Given the description of an element on the screen output the (x, y) to click on. 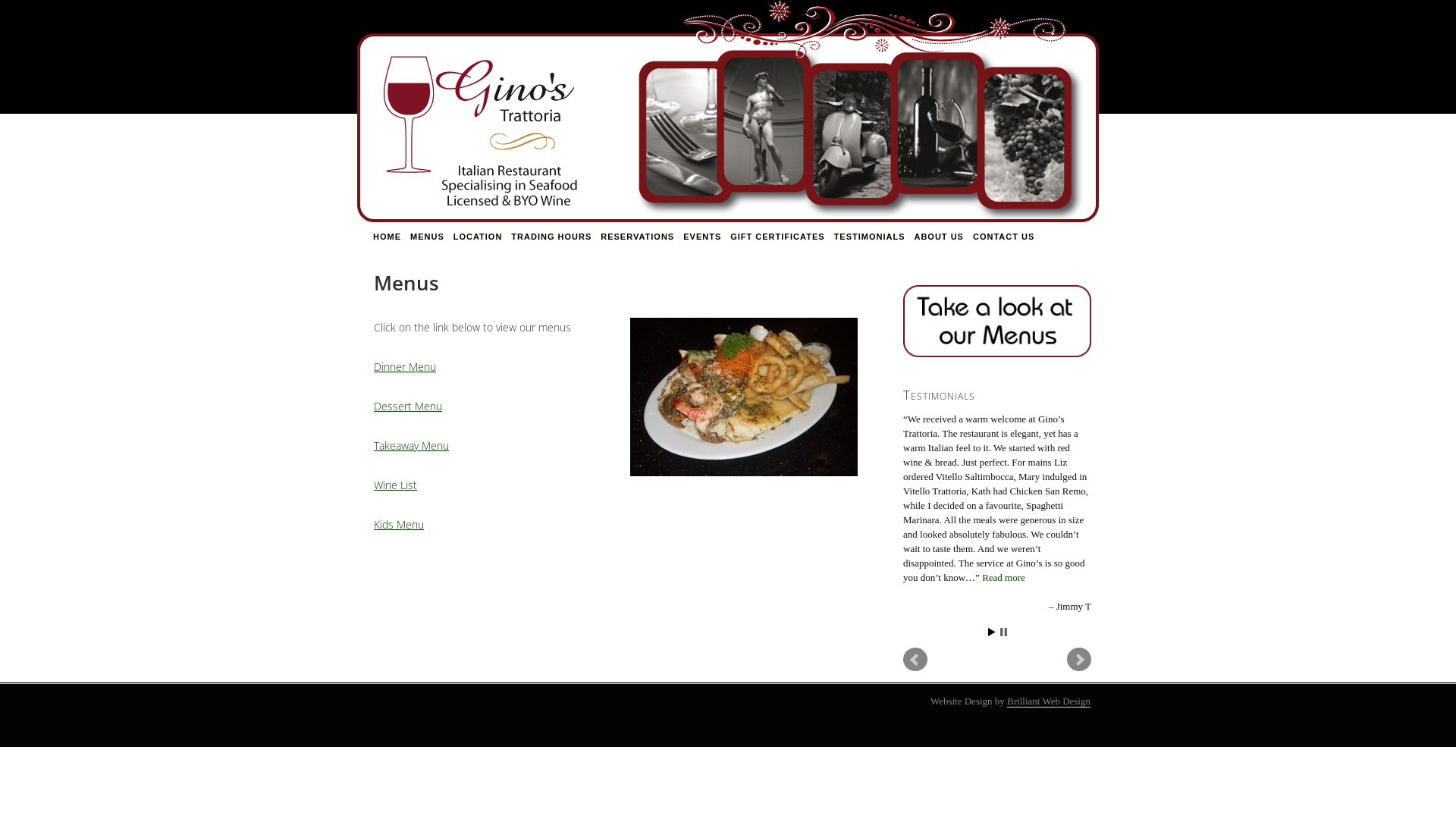
Wine List Element type: text (395, 484)
EVENTS Element type: text (701, 236)
ABOUT US Element type: text (938, 236)
Seafood Platter at Gino's Trattoria Element type: hover (743, 396)
Start Element type: text (990, 631)
Dinner Menu Element type: text (404, 366)
TRADING HOURS Element type: text (551, 236)
Prev Element type: text (915, 659)
Read more Element type: text (1003, 577)
HOME Element type: text (386, 236)
LOCATION Element type: text (477, 236)
GIFT CERTIFICATES Element type: text (776, 236)
MENUS Element type: text (426, 236)
Next Element type: text (1078, 659)
Stop Element type: text (1002, 631)
CONTACT US Element type: text (1003, 236)
Brilliant Web Design Element type: text (1048, 701)
RESERVATIONS Element type: text (637, 236)
Kids Menu Element type: text (398, 524)
TESTIMONIALS Element type: text (869, 236)
Gino's Trattoria Take a Look at Our Menus Element type: hover (997, 321)
Gino's Trattoria Element type: hover (727, 112)
Takeaway Menu Element type: text (410, 445)
Dessert Menu Element type: text (407, 405)
